Given the description of an element on the screen output the (x, y) to click on. 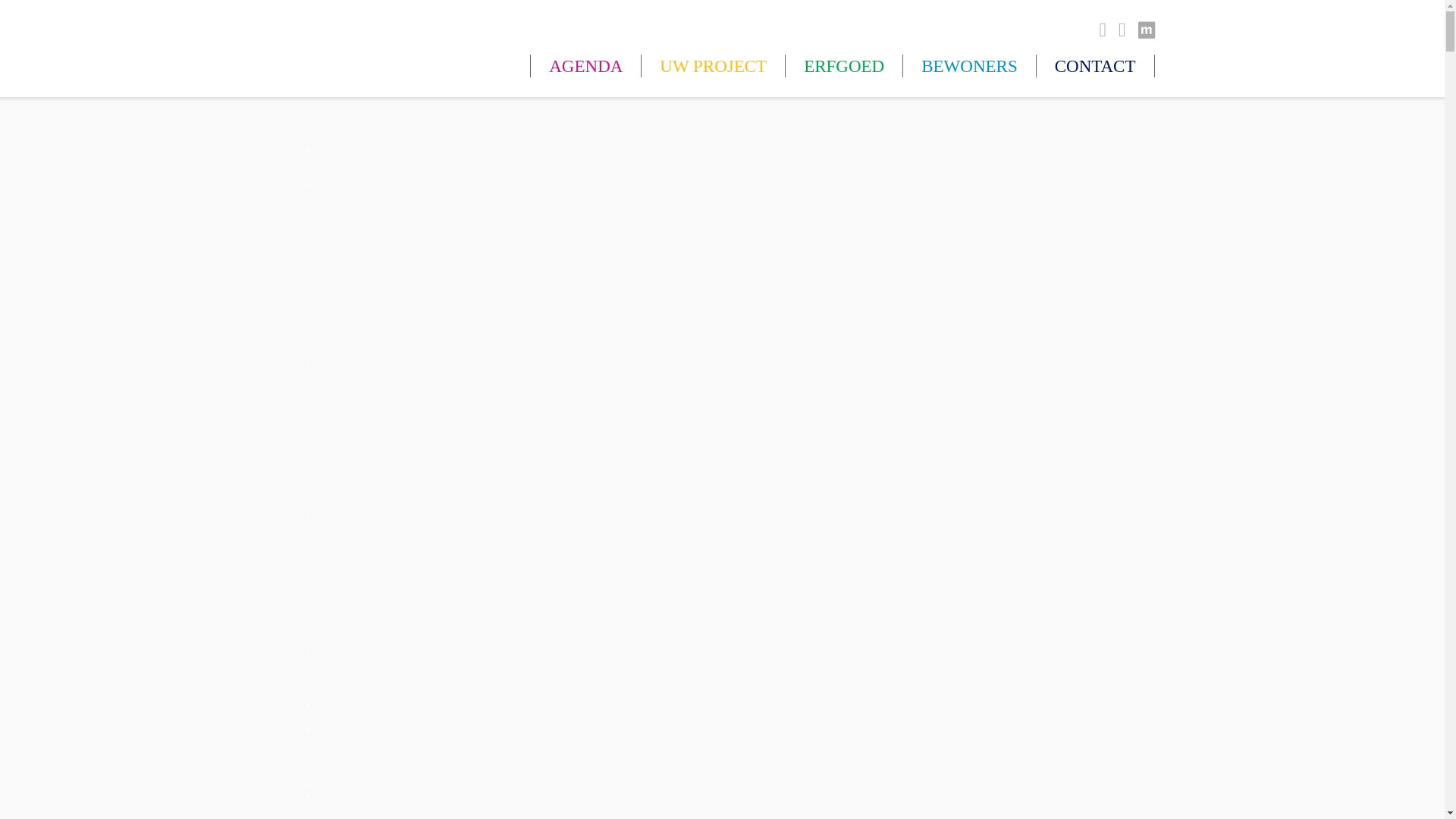
AGENDA (585, 66)
UW PROJECT (713, 66)
CONTACT (1094, 66)
BEWONERS (969, 66)
ERFGOED (843, 66)
